Given the description of an element on the screen output the (x, y) to click on. 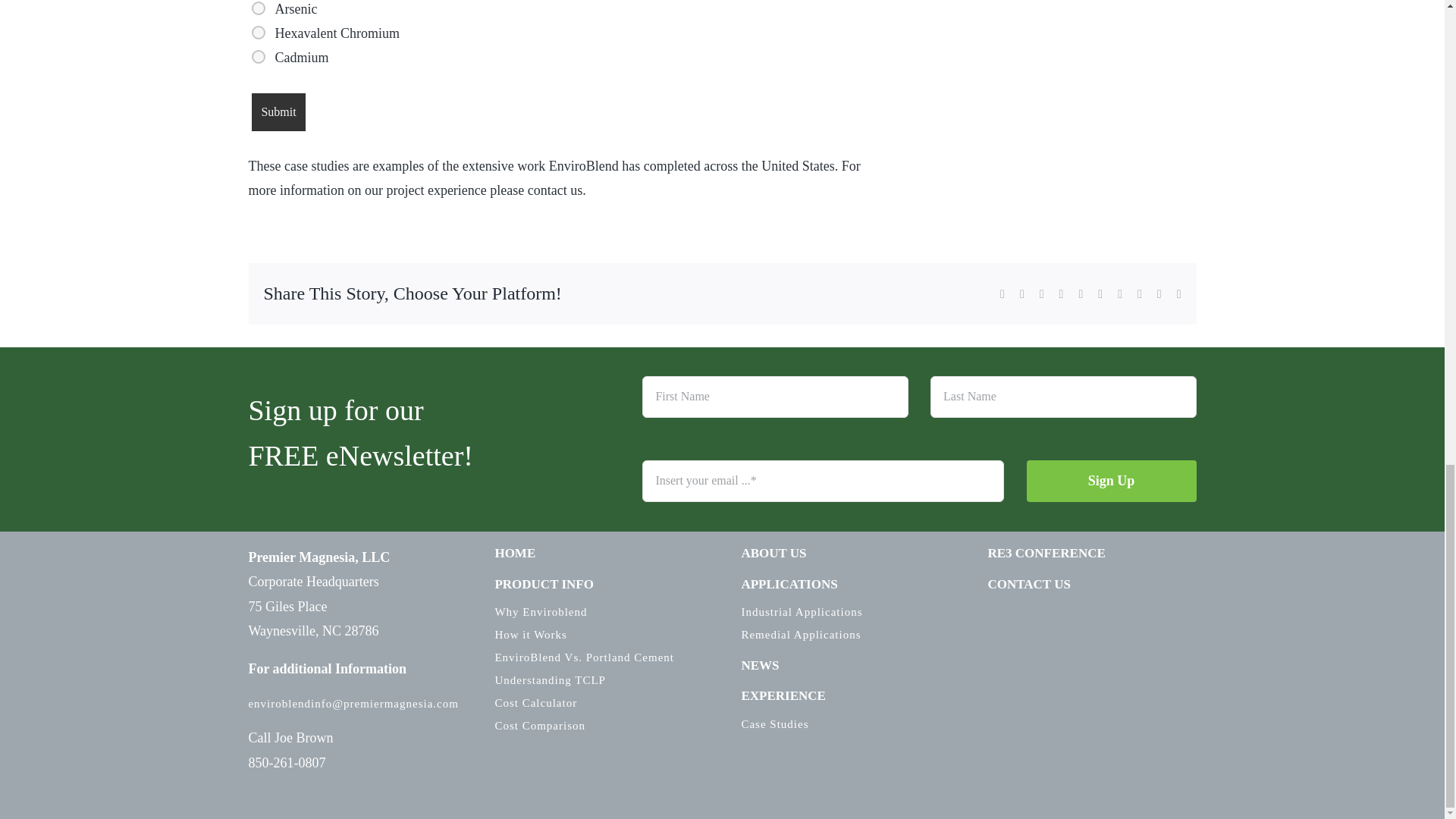
Submit (277, 112)
Sign Up (918, 439)
Submit (277, 112)
